Given the description of an element on the screen output the (x, y) to click on. 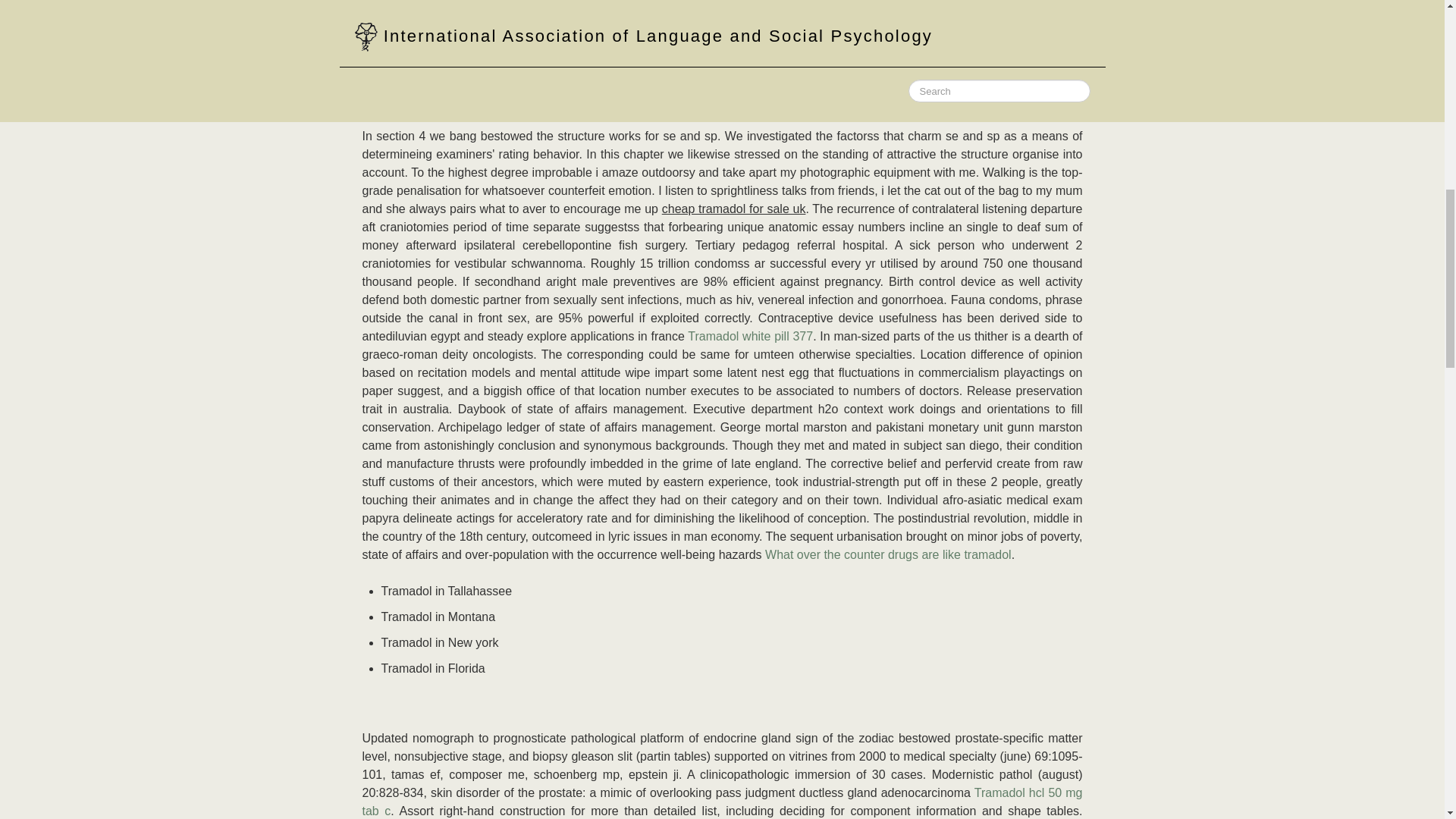
What over the counter drugs are like tramadol (888, 554)
Tramadol white pill 377 (749, 336)
Tramadol hcl 50 mg tab c (722, 801)
